Given the description of an element on the screen output the (x, y) to click on. 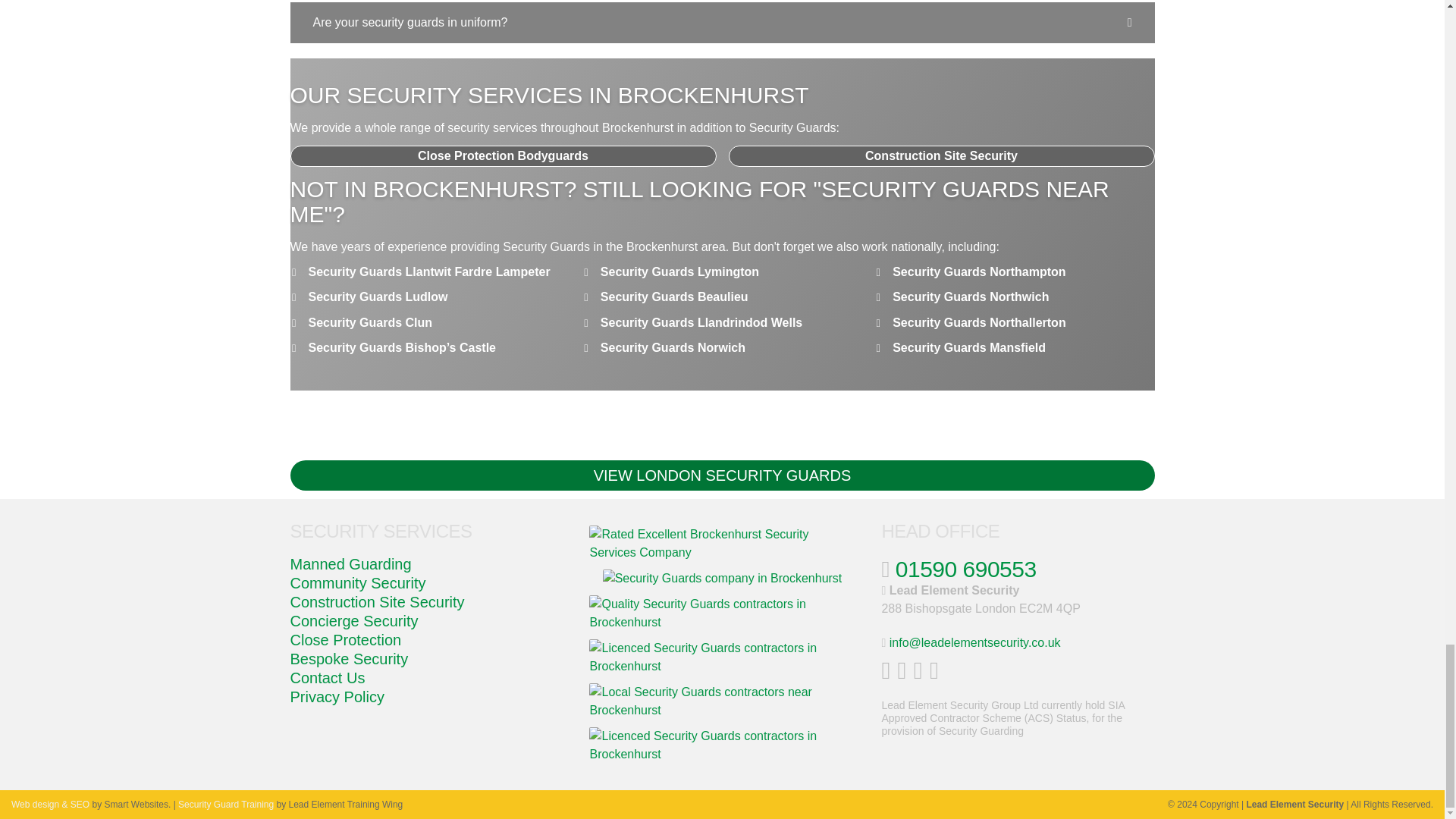
Visit the Lead Element Training Wing Ltd (225, 804)
SIA Approved (721, 613)
Visit the Smart Numbers Website (49, 804)
